Given the description of an element on the screen output the (x, y) to click on. 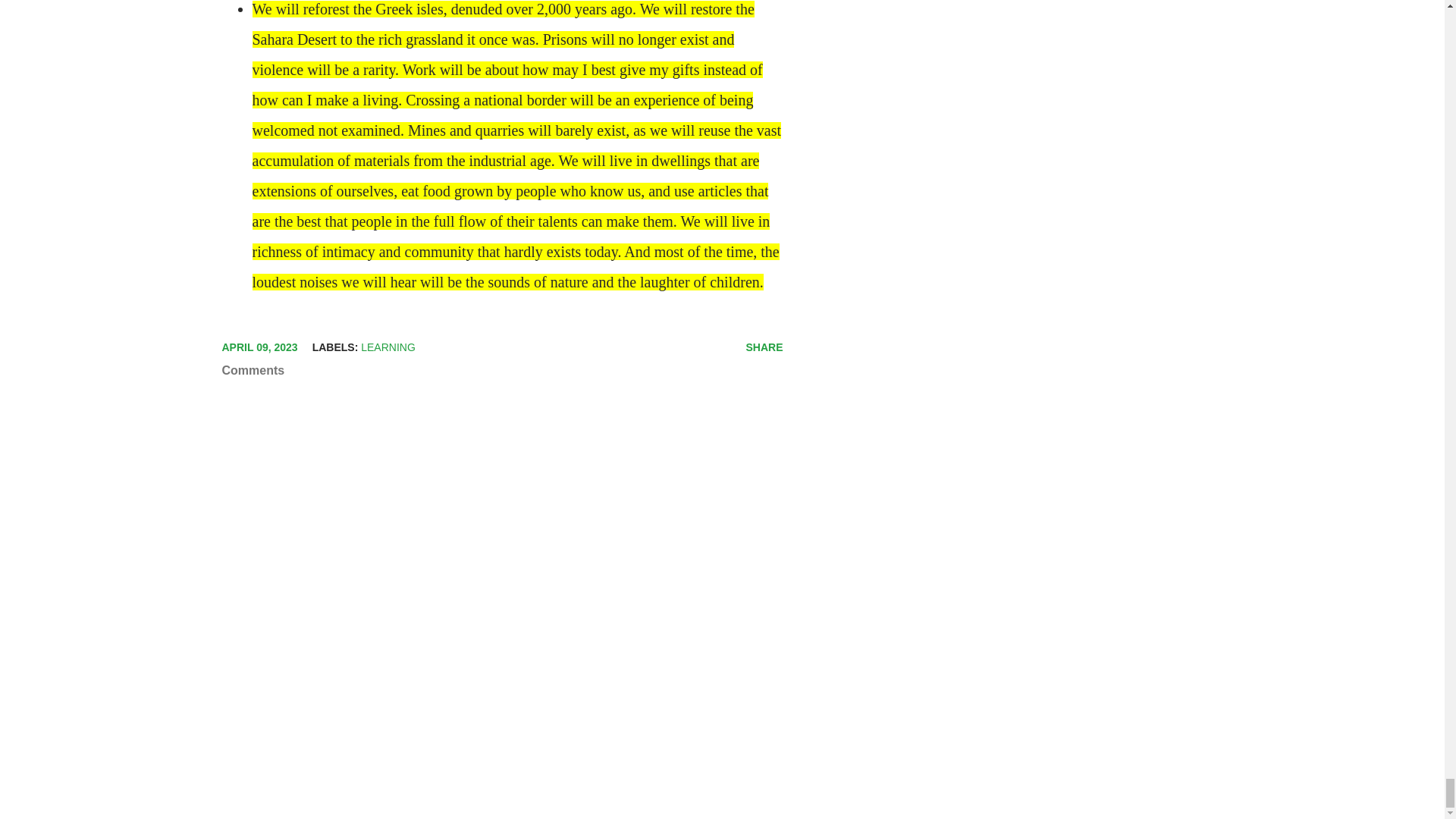
permanent link (259, 346)
LEARNING (387, 346)
APRIL 09, 2023 (259, 346)
SHARE (764, 346)
